Given the description of an element on the screen output the (x, y) to click on. 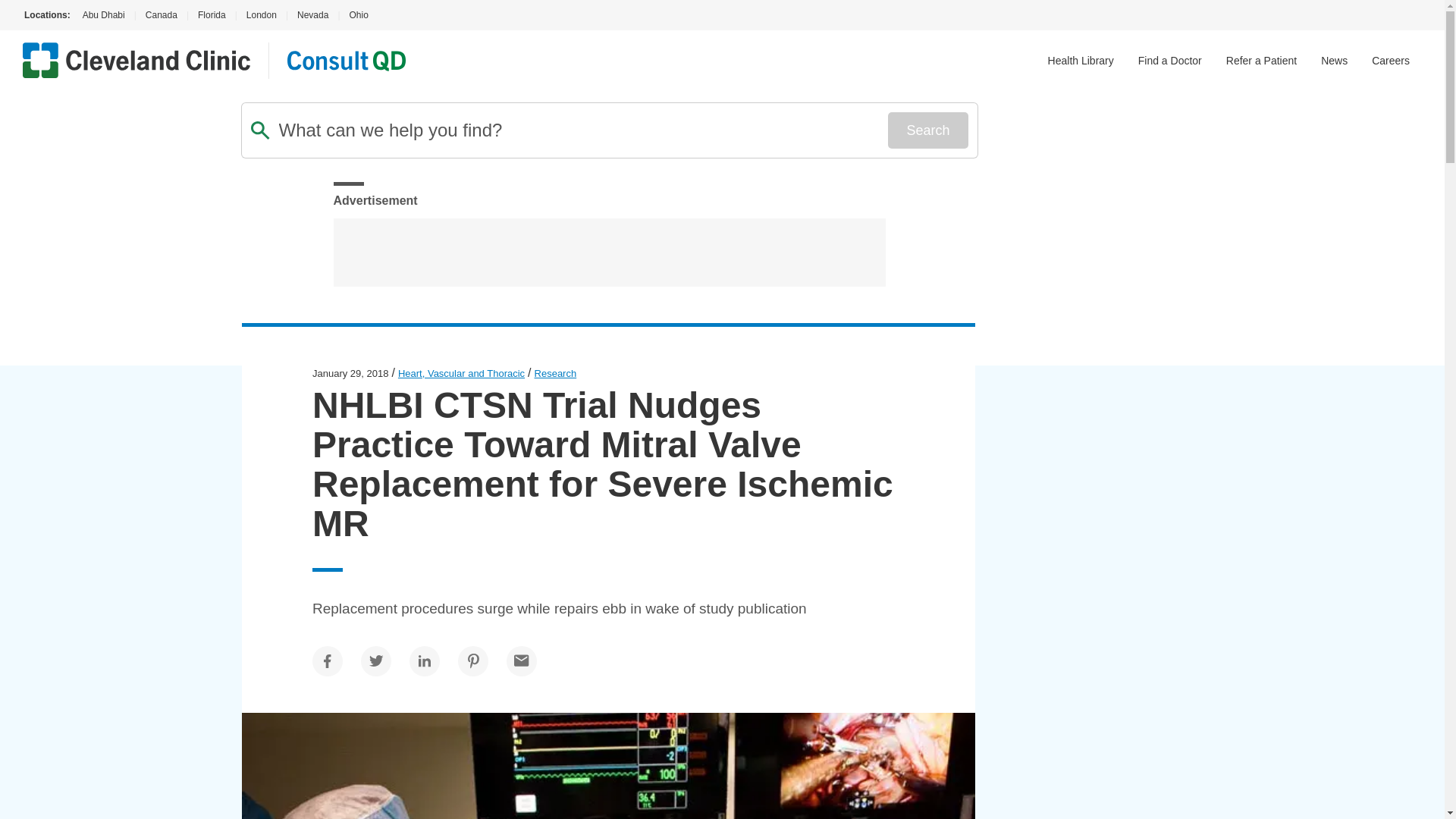
Nevada (312, 15)
Health Library (1080, 60)
Careers (1390, 60)
Research (555, 373)
Heart, Vascular and Thoracic (460, 373)
Florida (211, 15)
London (261, 15)
Find a Doctor (1170, 60)
News (1334, 60)
Ohio (358, 15)
